Given the description of an element on the screen output the (x, y) to click on. 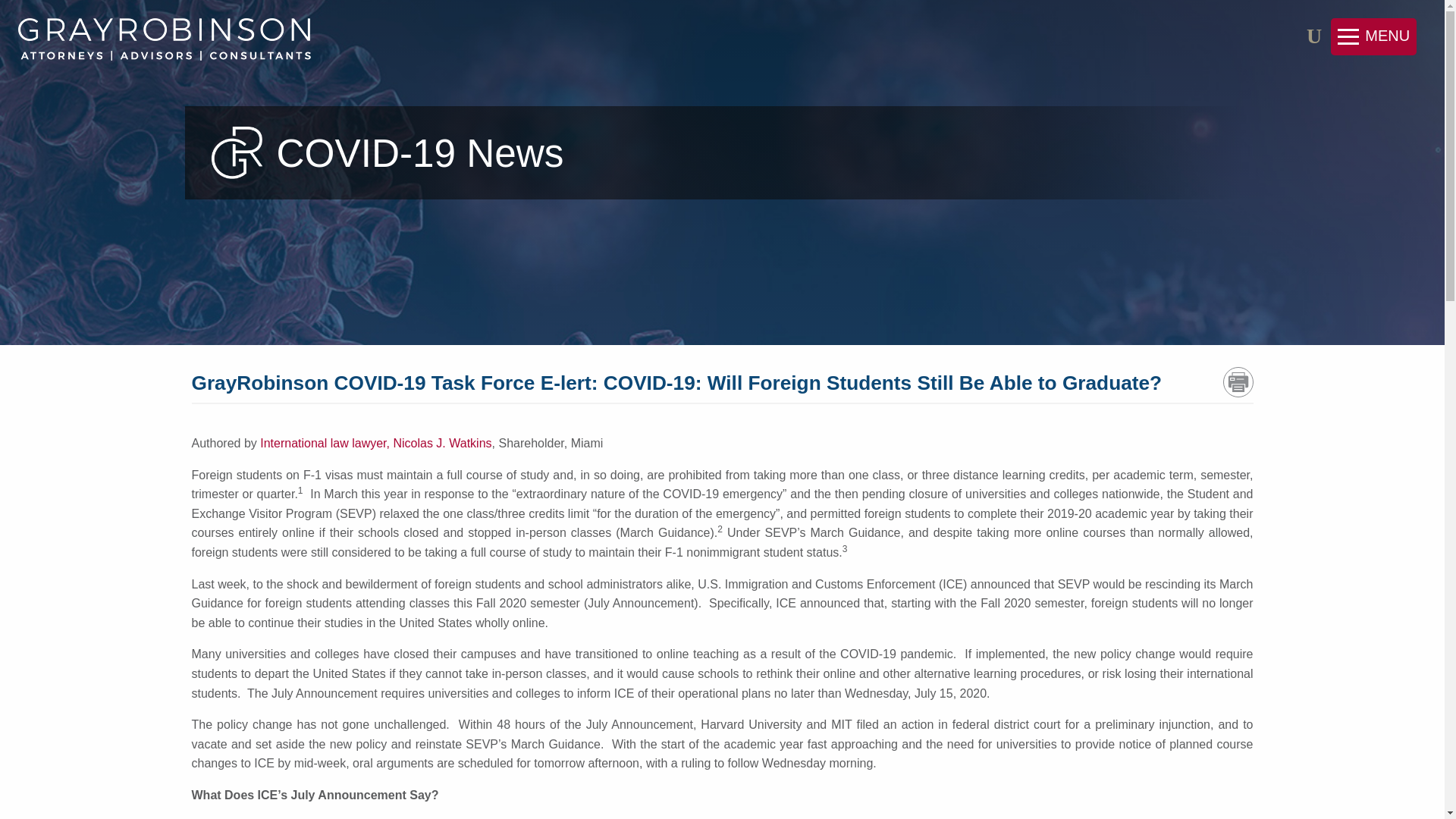
International law lawyer (325, 442)
MENU (1373, 36)
International law lawyer, (325, 442)
Nicolas J. Watkins (442, 442)
